Given the description of an element on the screen output the (x, y) to click on. 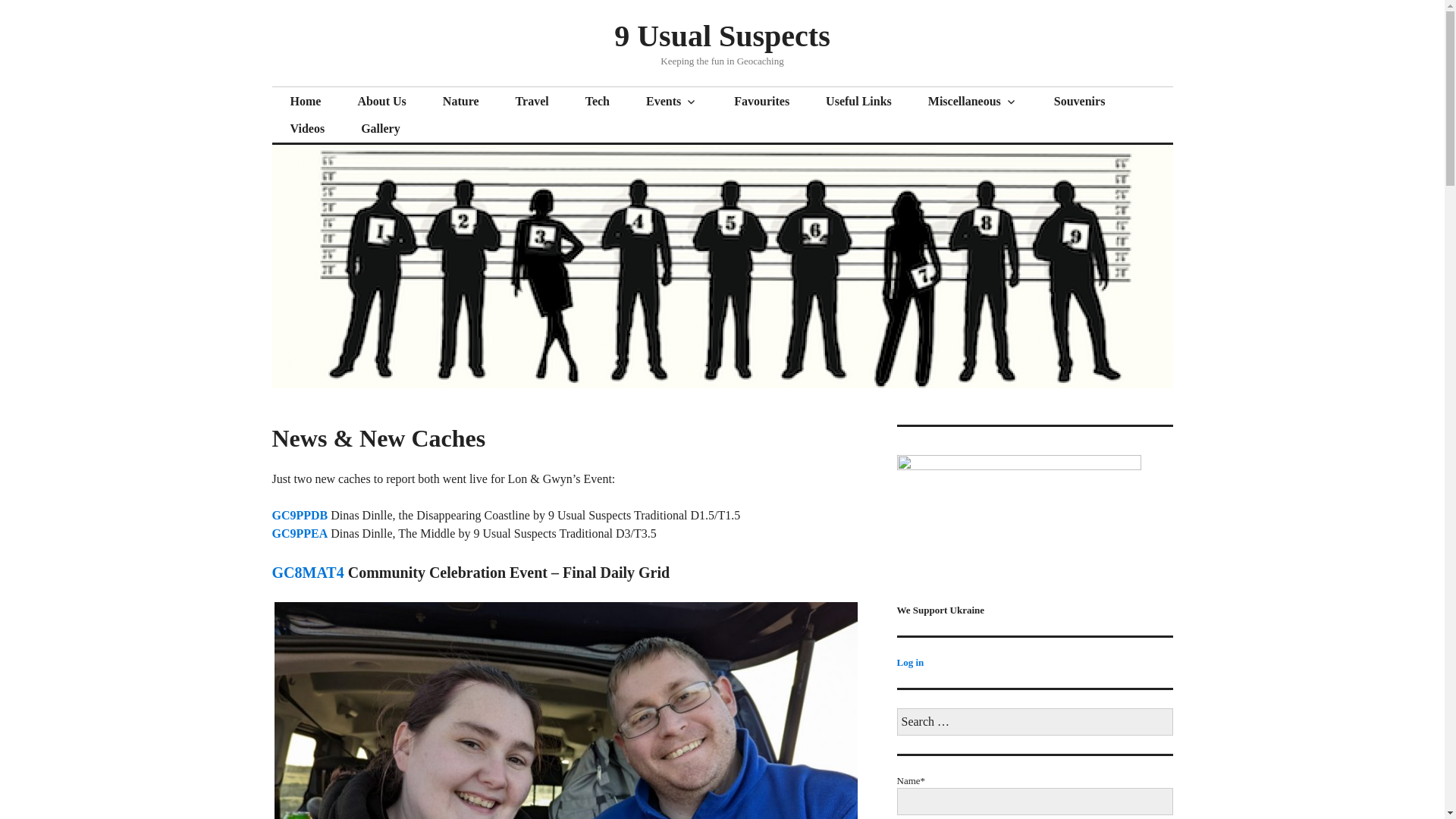
Useful Links (859, 101)
Events (671, 101)
GC9PPDB (298, 514)
GC8MAT4 (306, 572)
Home (304, 101)
Gallery (380, 128)
Souvenirs (1079, 101)
Travel (532, 101)
Tech (597, 101)
Nature (461, 101)
